Given the description of an element on the screen output the (x, y) to click on. 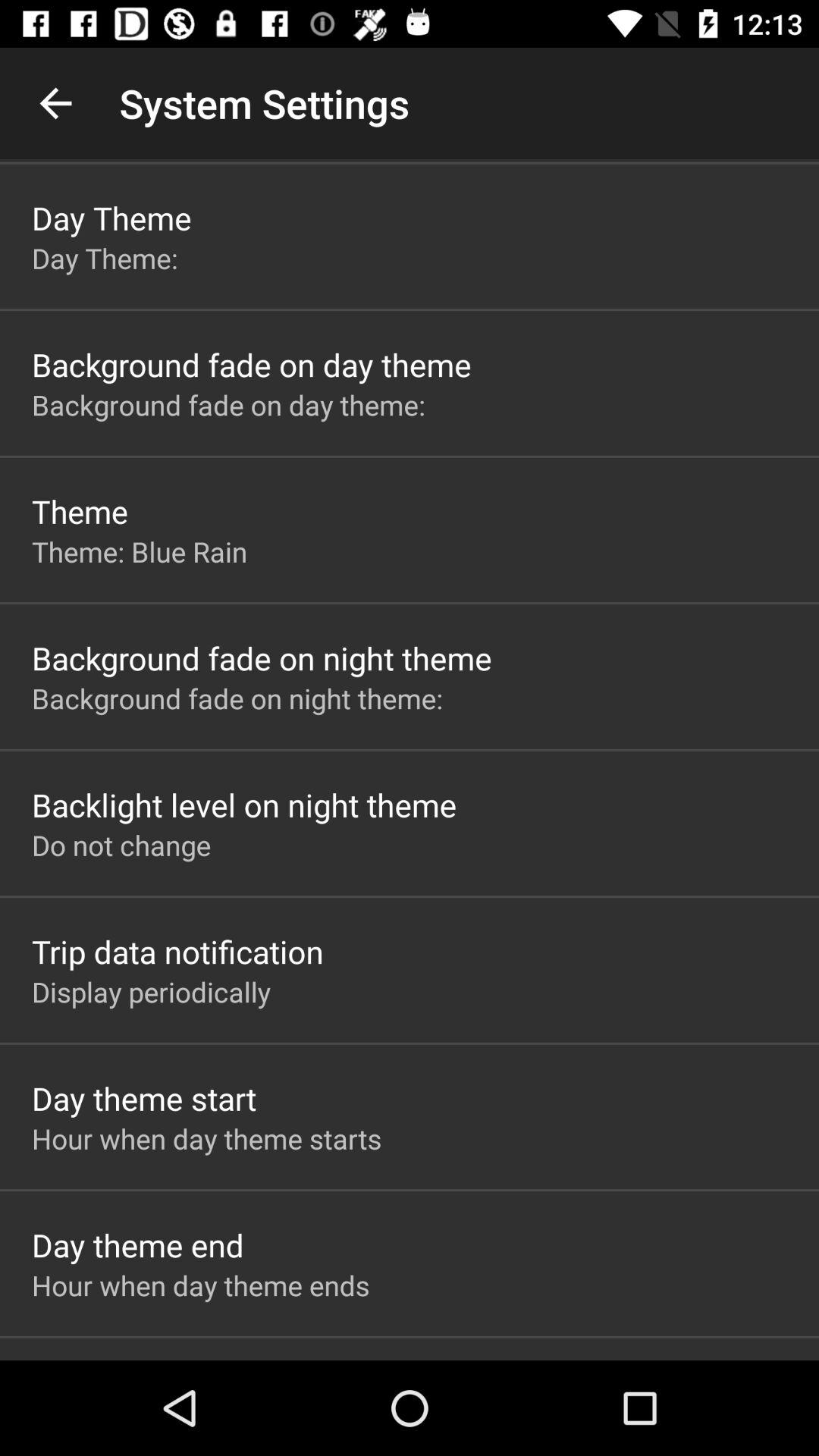
launch the app above background fade on item (139, 551)
